Given the description of an element on the screen output the (x, y) to click on. 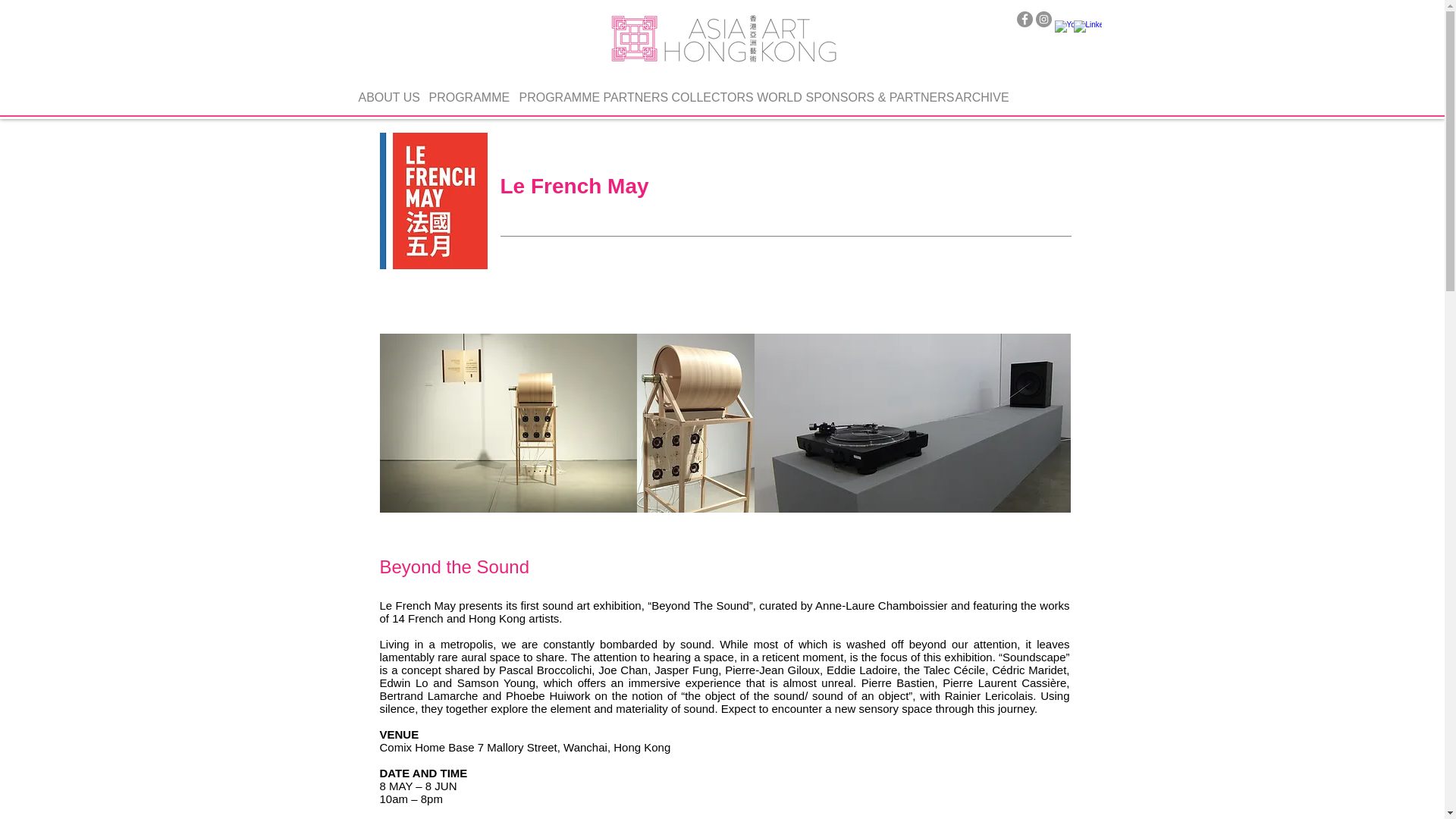
ARCHIVE (980, 90)
